Given the description of an element on the screen output the (x, y) to click on. 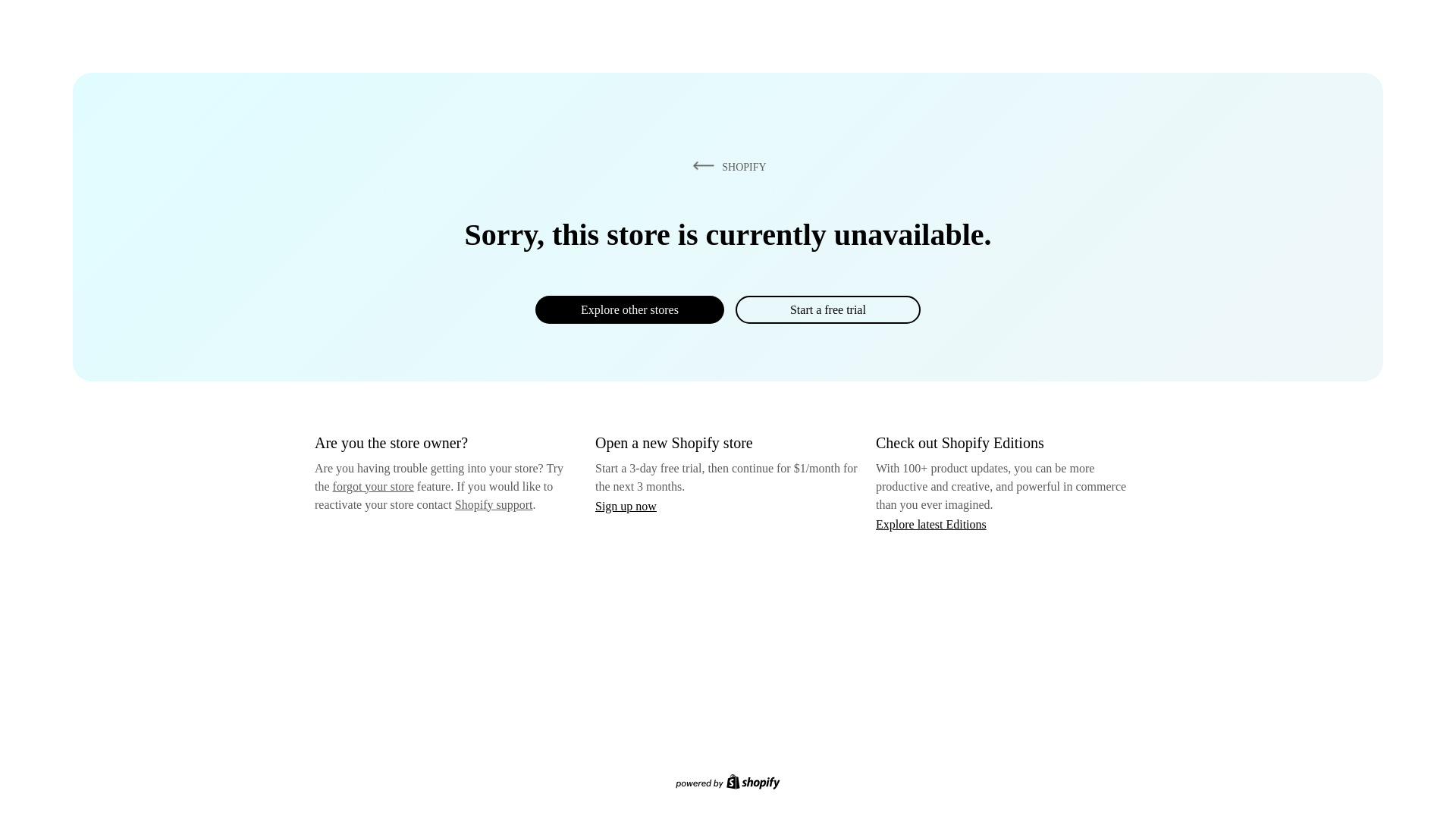
Explore other stores (629, 309)
Sign up now (625, 505)
Start a free trial (827, 309)
forgot your store (373, 486)
Shopify support (493, 504)
Explore latest Editions (931, 523)
SHOPIFY (726, 166)
